Given the description of an element on the screen output the (x, y) to click on. 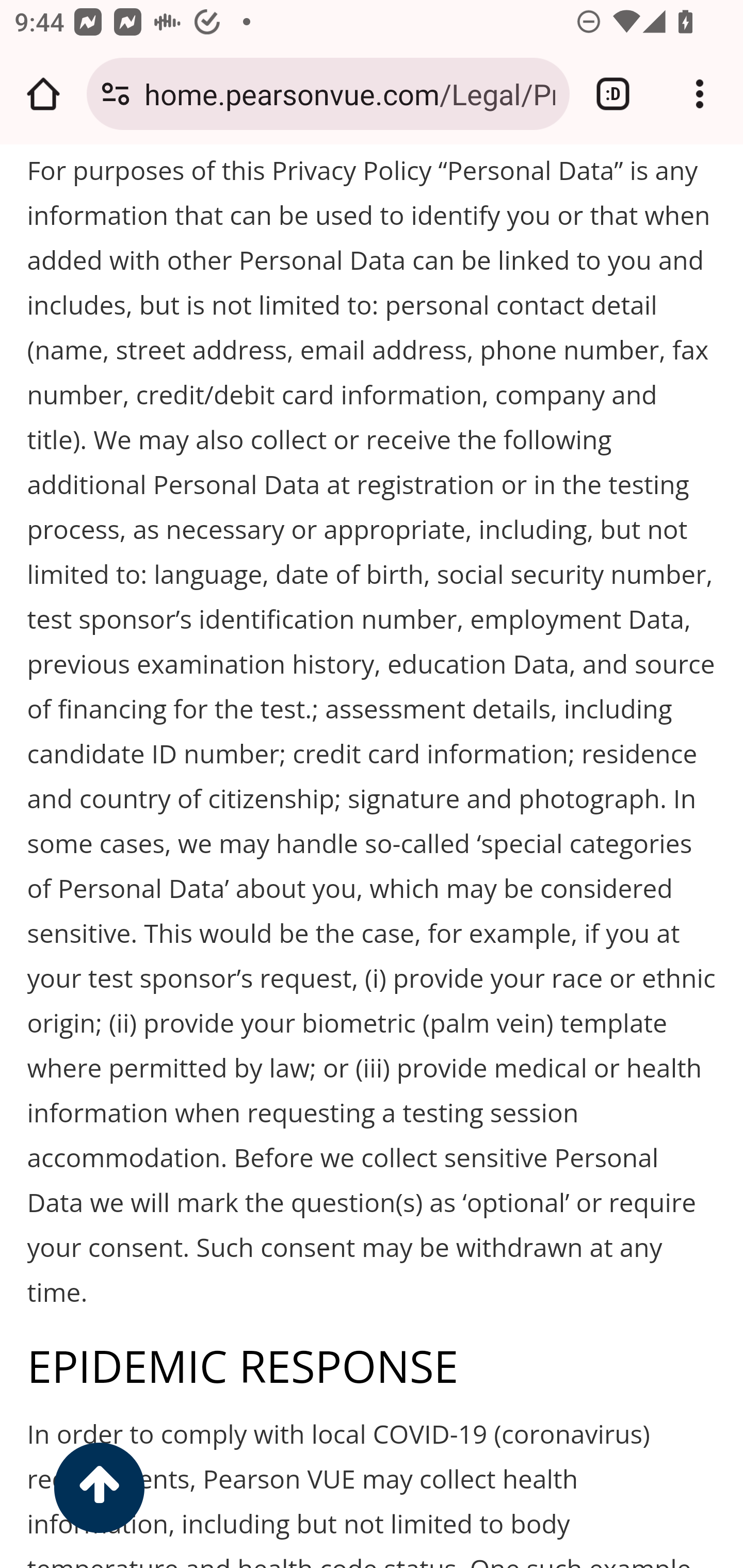
Open the home page (43, 93)
Connection is secure (115, 93)
Switch or close tabs (612, 93)
Customize and control Google Chrome (699, 93)
 (99, 1488)
